Given the description of an element on the screen output the (x, y) to click on. 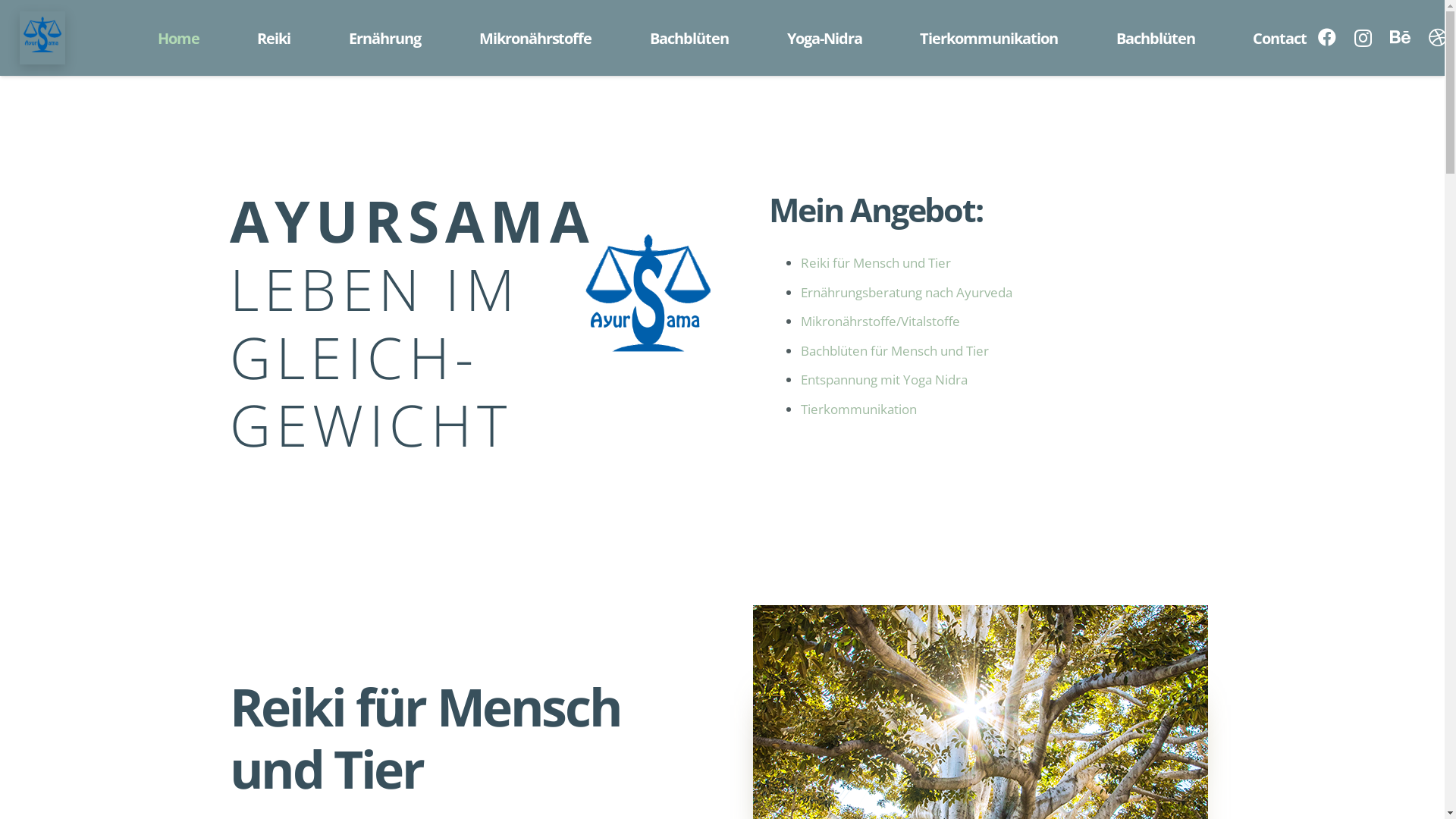
Home Element type: text (178, 37)
Instagram Element type: hover (1362, 37)
Dribbble Element type: hover (1437, 37)
Tierkommunikation Element type: text (858, 408)
Facebook Element type: hover (1326, 37)
Behance Element type: hover (1400, 37)
Entspannung mit Yoga Nidra Element type: text (883, 379)
Contact Element type: text (1279, 37)
Tierkommunikation Element type: text (988, 37)
Yoga-Nidra Element type: text (824, 37)
Reiki Element type: text (274, 37)
